Given the description of an element on the screen output the (x, y) to click on. 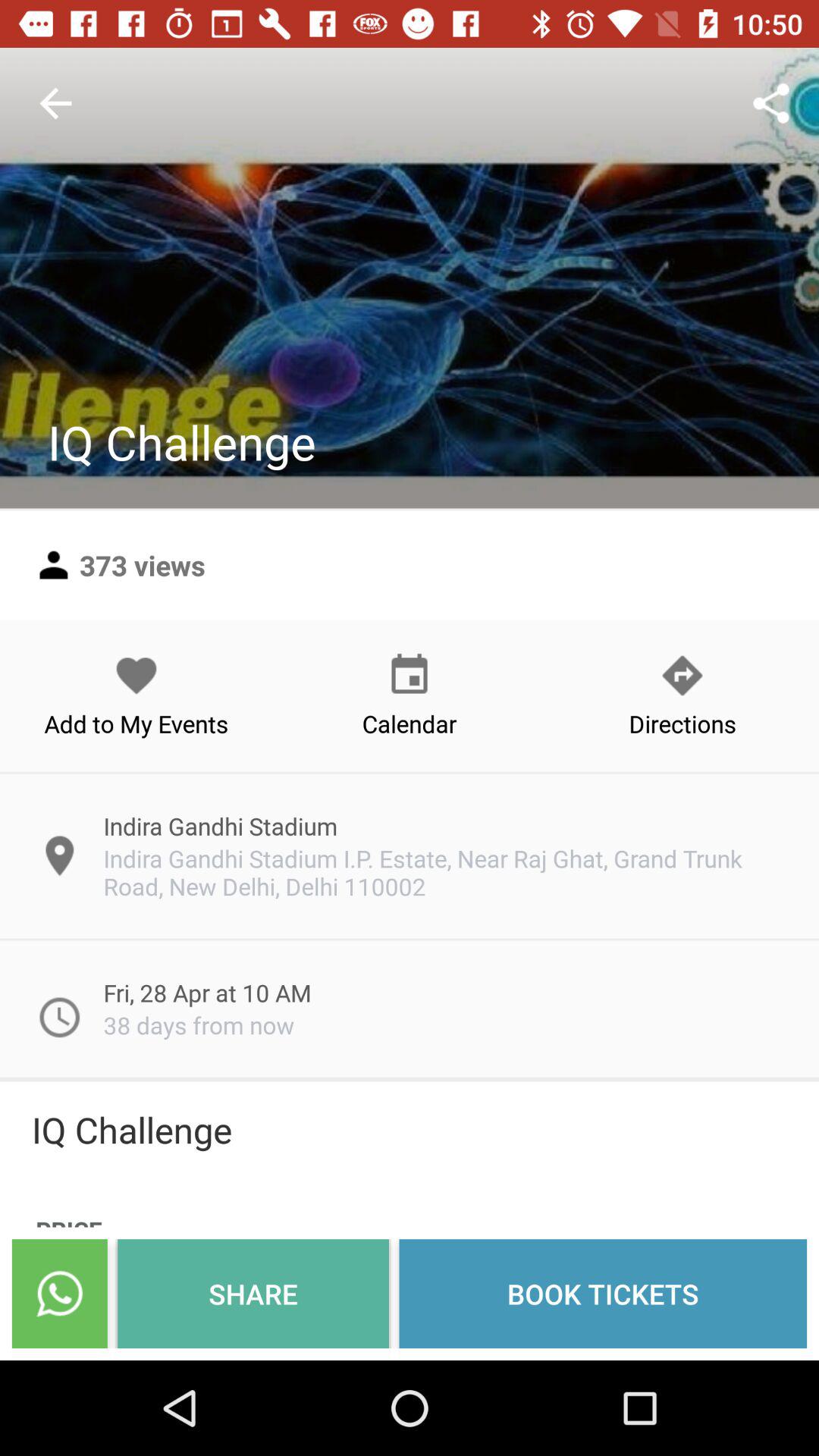
select the icon next to calendar icon (136, 695)
